Given the description of an element on the screen output the (x, y) to click on. 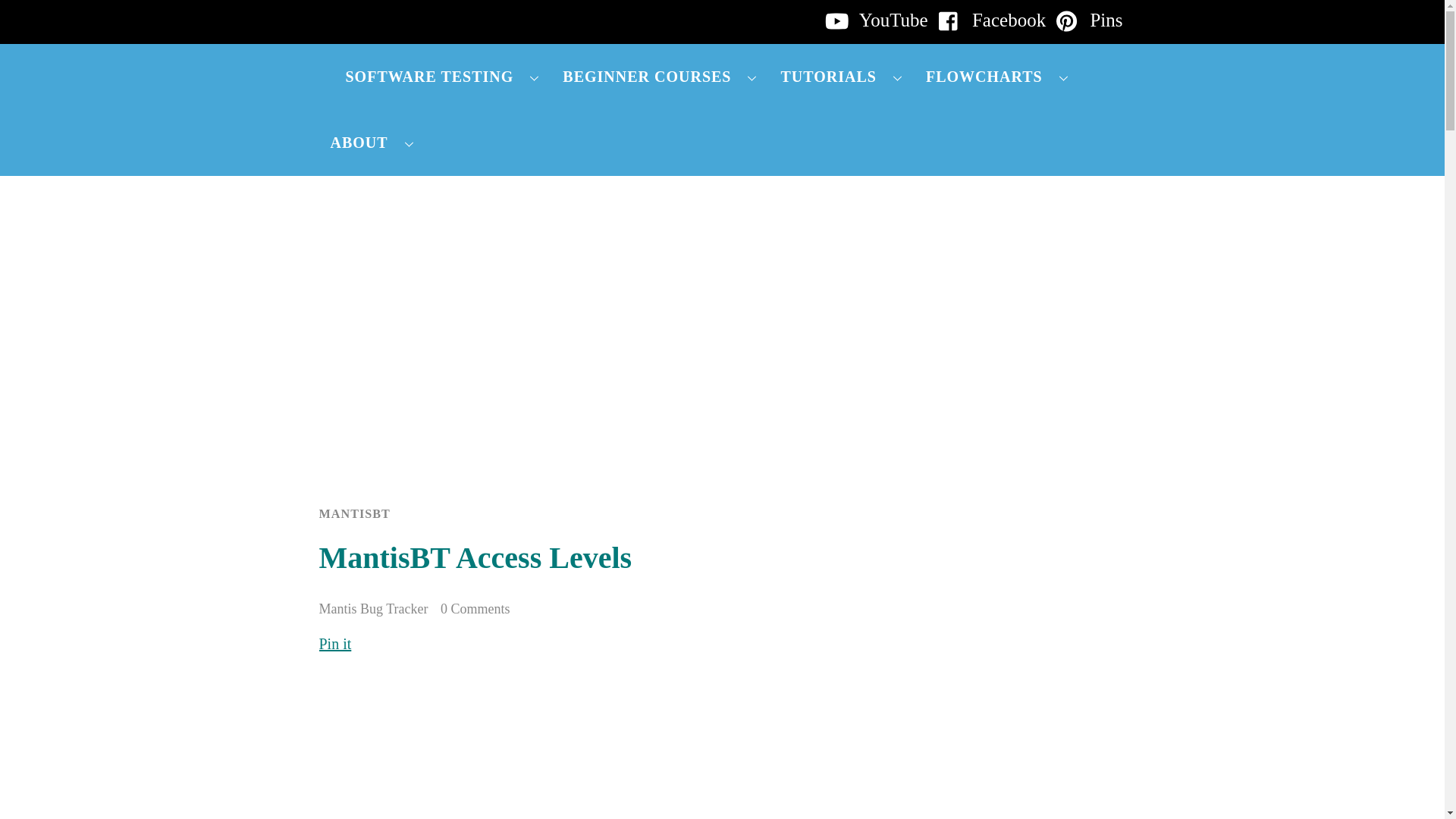
YouTube (872, 19)
Pin it (334, 643)
MantisBT Access Levels (474, 557)
ABOUT (371, 142)
Mantis Bug Tracker (373, 608)
SOFTWARE TESTING (442, 76)
MANTISBT (354, 513)
FLOWCHARTS (997, 76)
0 Comments (476, 608)
TUTORIALS (841, 76)
BEGINNER COURSES (659, 76)
Facebook (988, 19)
Pins (1085, 19)
Advertisement (591, 747)
